Given the description of an element on the screen output the (x, y) to click on. 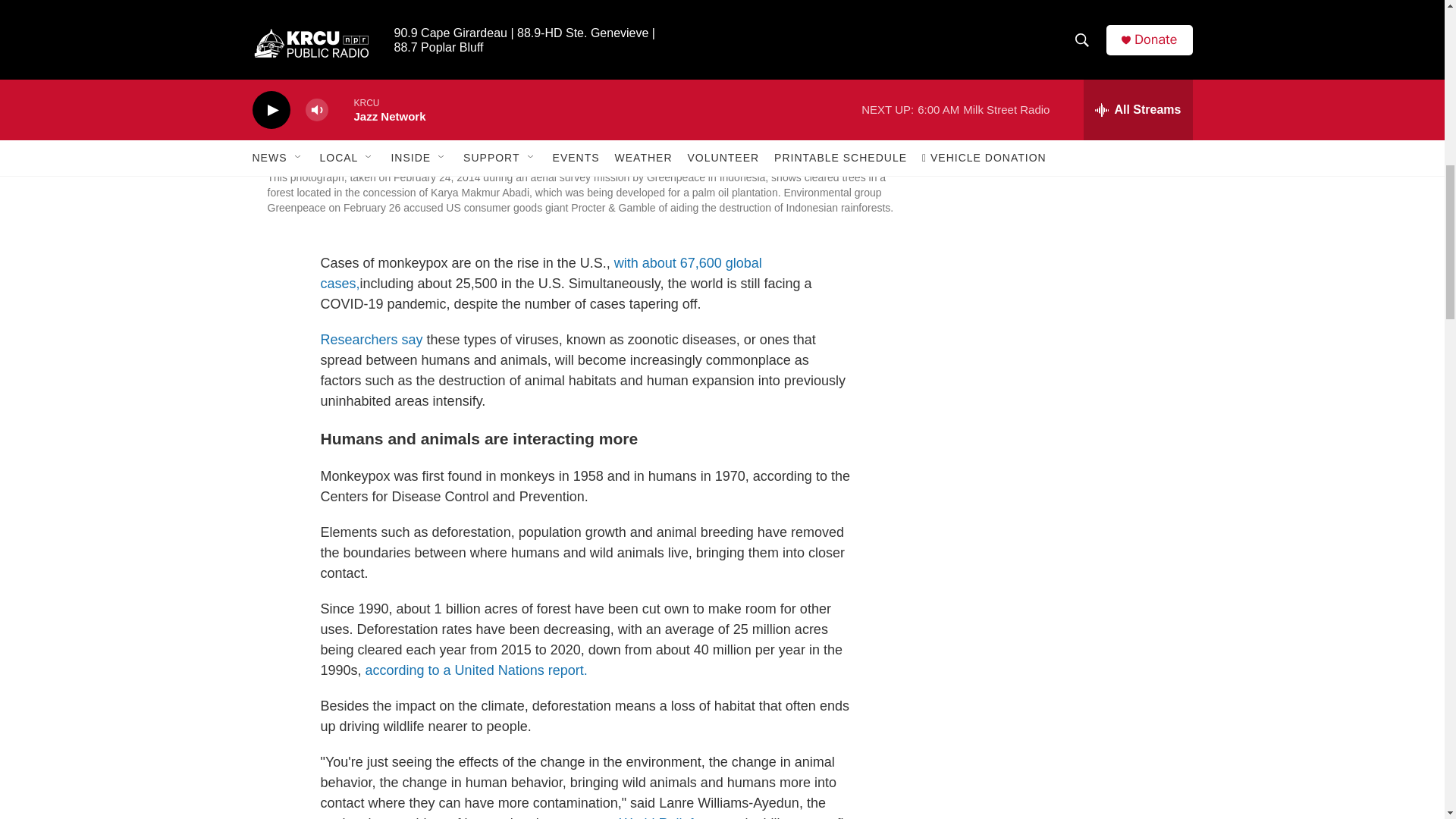
3rd party ad content (1063, 16)
